Given the description of an element on the screen output the (x, y) to click on. 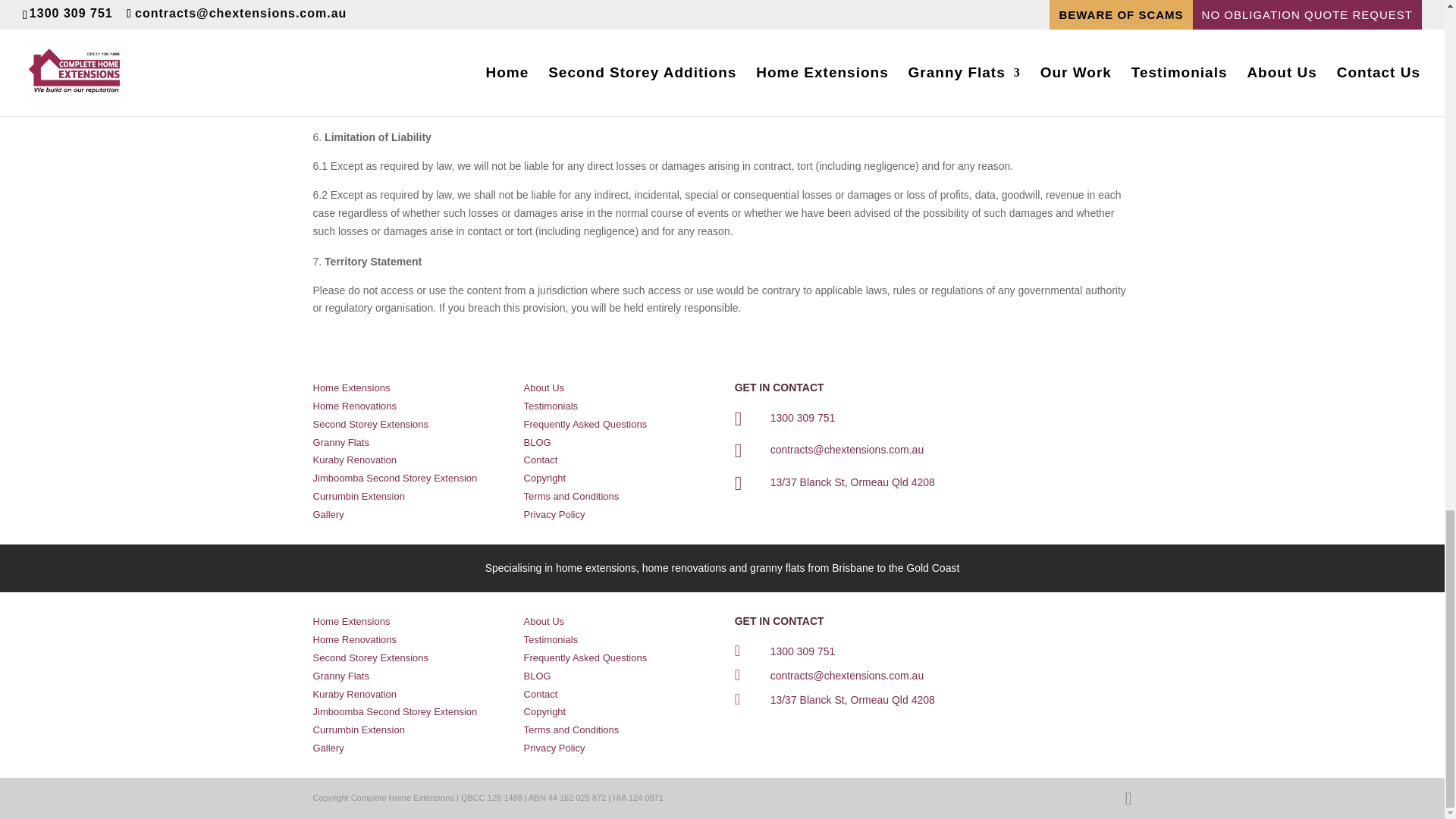
BLOG (537, 441)
Second Storey Extensions (370, 423)
Contact (540, 460)
Currumbin Extension (358, 496)
Jimboomba Second Storey Extension (395, 478)
Home Extensions (351, 387)
Home Renovations (354, 405)
Kuraby Renovation (354, 460)
Frequently Asked Questions (585, 423)
About Us (544, 387)
